Given the description of an element on the screen output the (x, y) to click on. 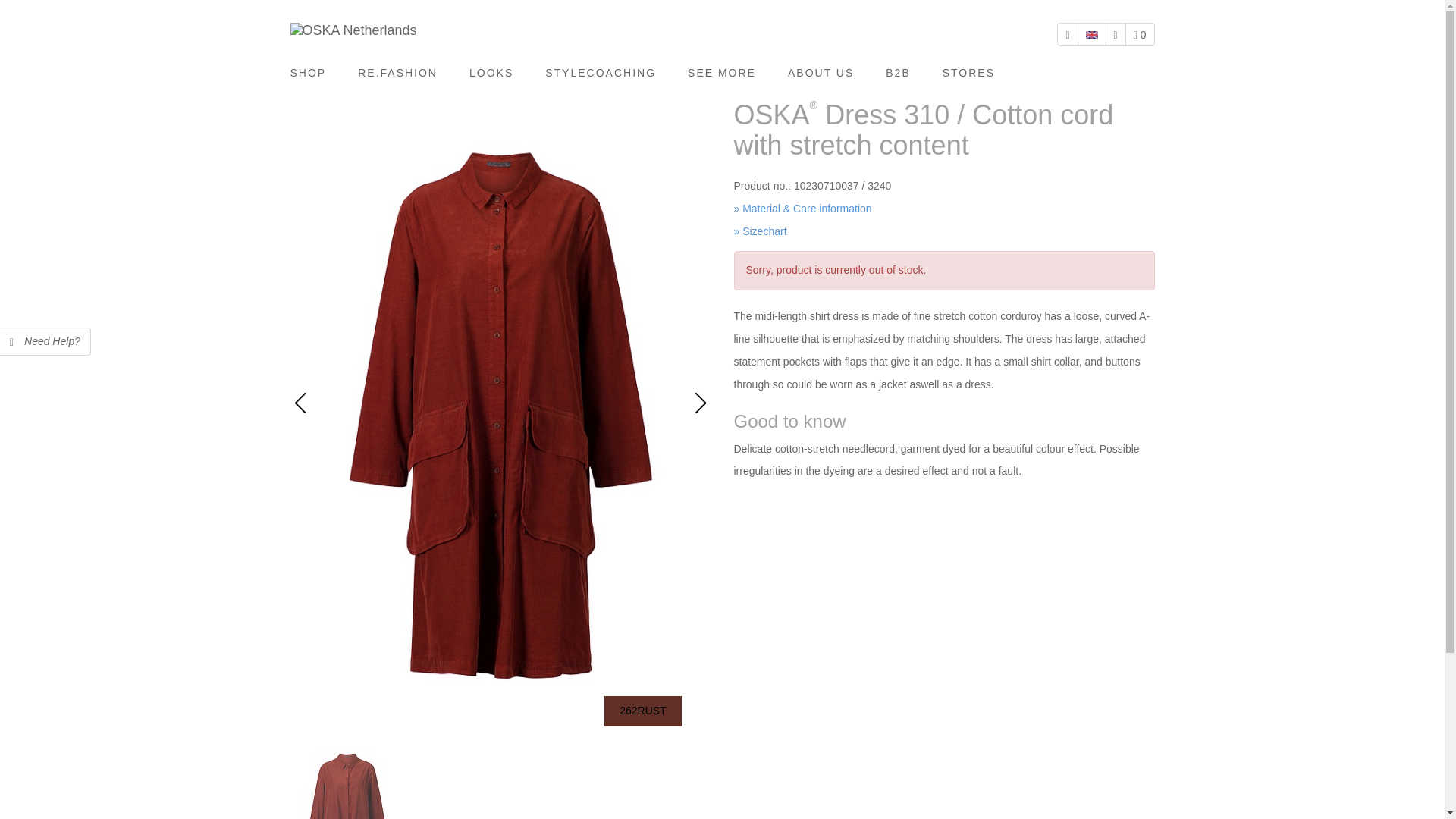
0 (1139, 34)
LOOKS (490, 72)
B2B (897, 72)
SEE MORE (721, 72)
SHOP (315, 72)
OSKA Netherlands (352, 29)
STYLECOACHING (600, 72)
ABOUT US (820, 72)
RE.FASHION (397, 72)
